Given the description of an element on the screen output the (x, y) to click on. 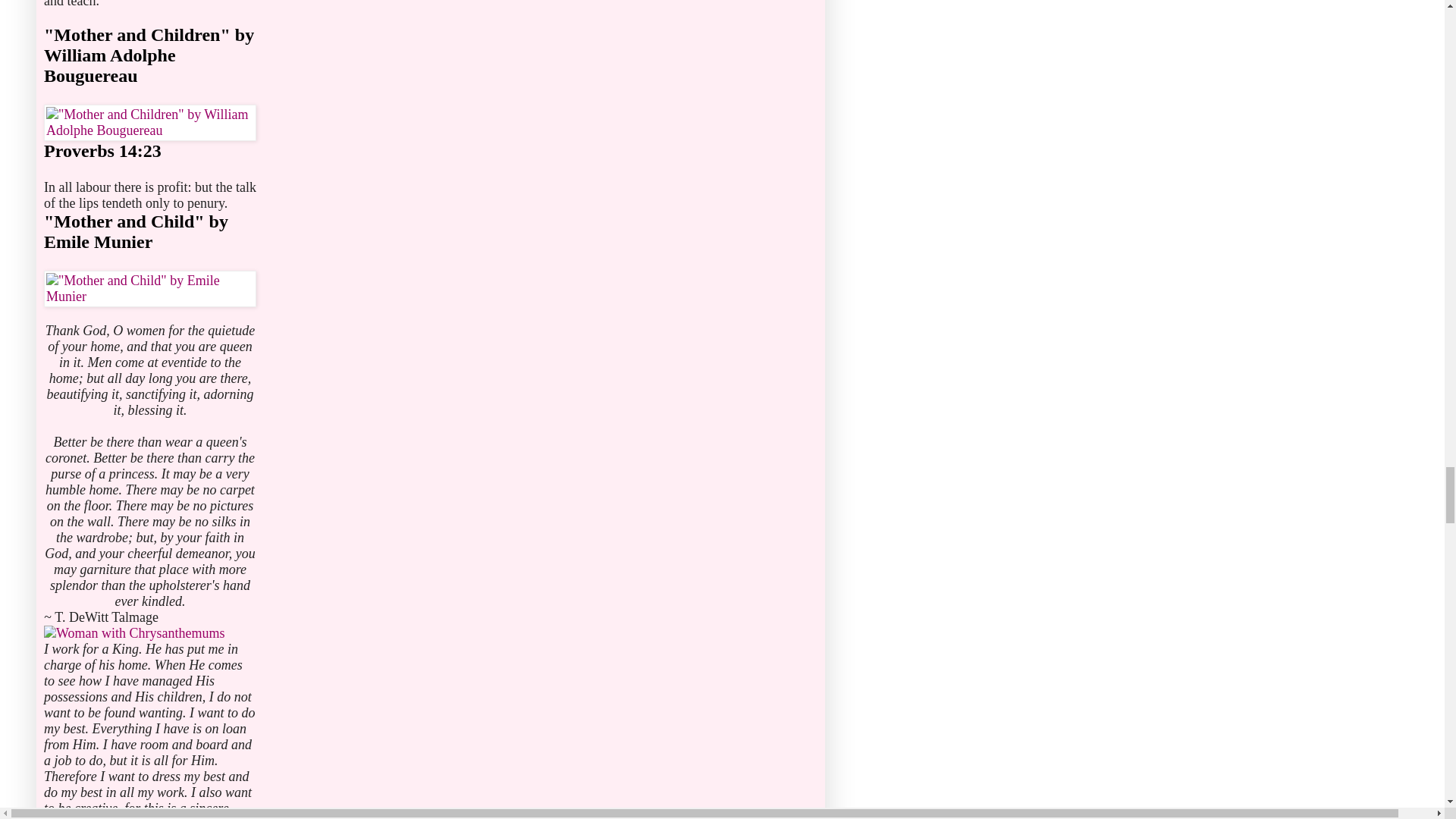
Woman with Chrysanthemums (134, 632)
